Given the description of an element on the screen output the (x, y) to click on. 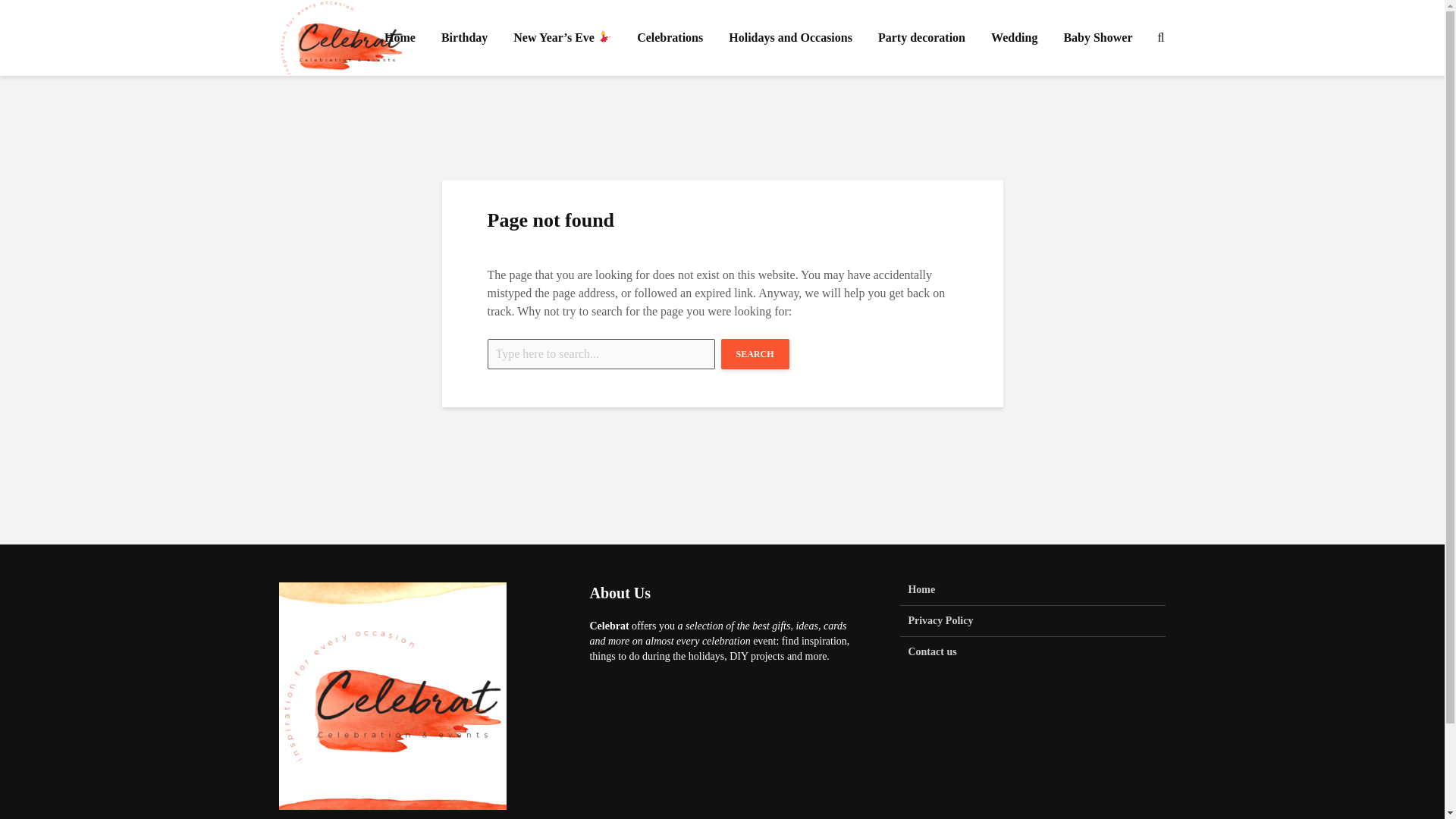
Wedding (1013, 37)
Home (399, 37)
Celebrations (670, 37)
Contact us (1032, 652)
Party decoration (921, 37)
Baby Shower (1096, 37)
Holidays and Occasions (790, 37)
SEARCH (754, 354)
Privacy Policy (1032, 621)
Birthday (464, 37)
